Given the description of an element on the screen output the (x, y) to click on. 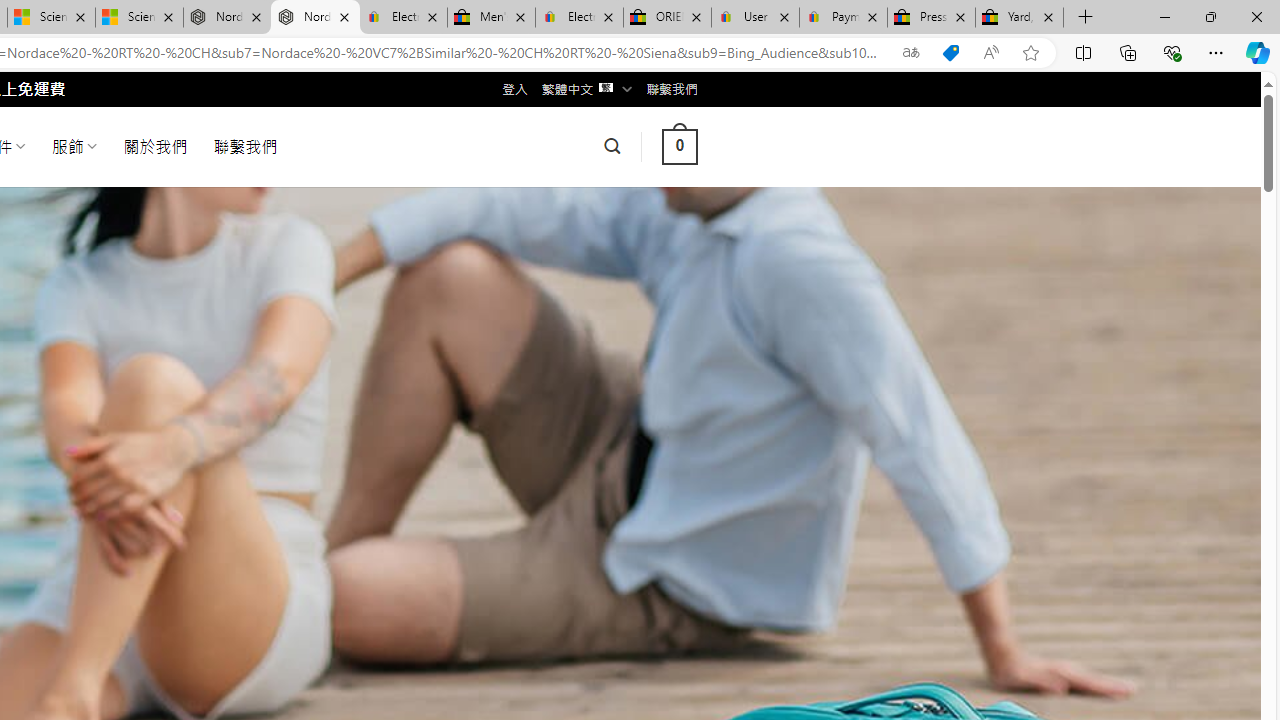
Show translate options (910, 53)
Shopping in Microsoft Edge (950, 53)
User Privacy Notice | eBay (754, 17)
